Given the description of an element on the screen output the (x, y) to click on. 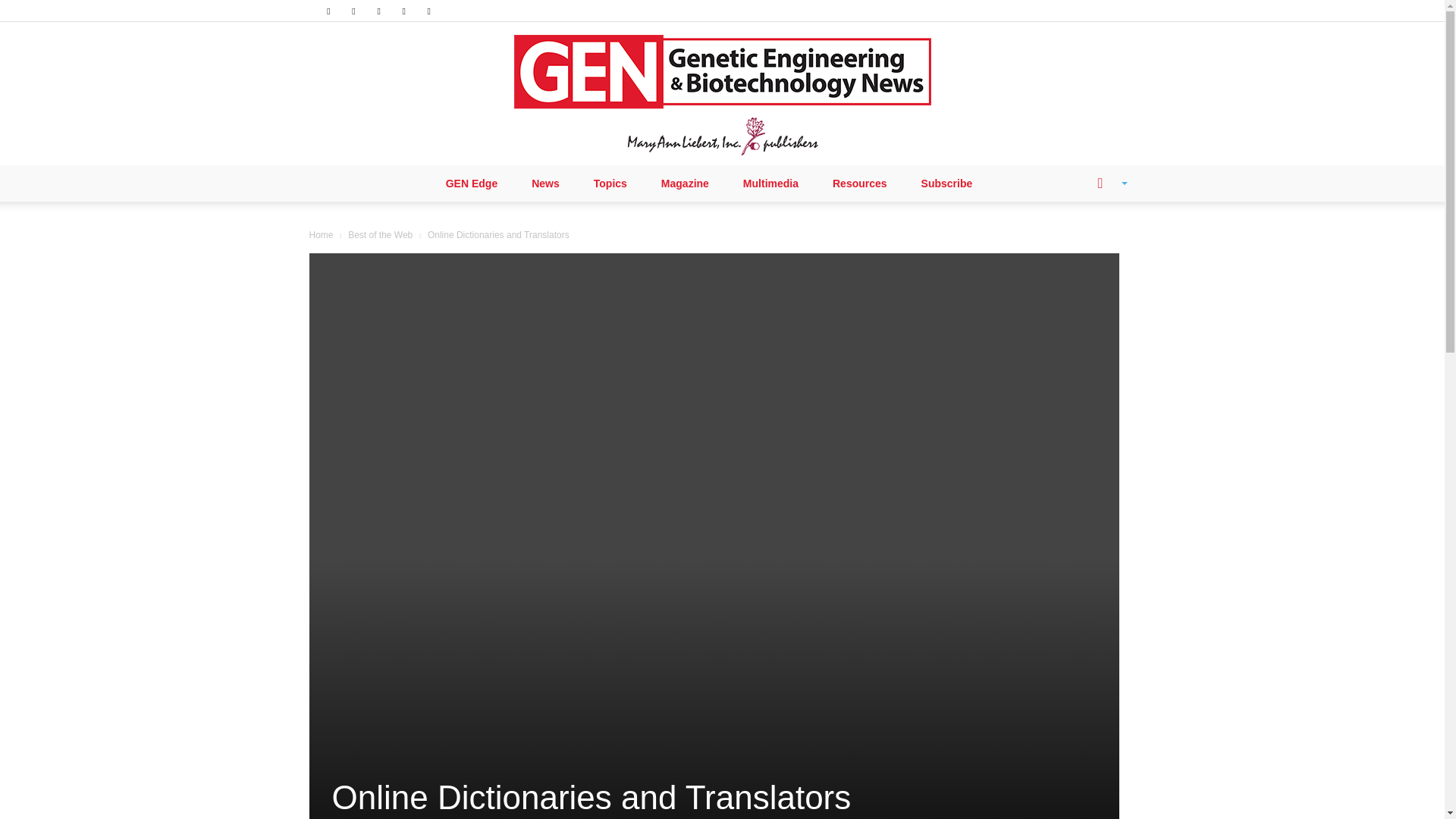
Linkedin (353, 10)
Facebook (328, 10)
RSS (379, 10)
View all posts in Best of the Web (379, 235)
Youtube (429, 10)
Twitter (403, 10)
